Given the description of an element on the screen output the (x, y) to click on. 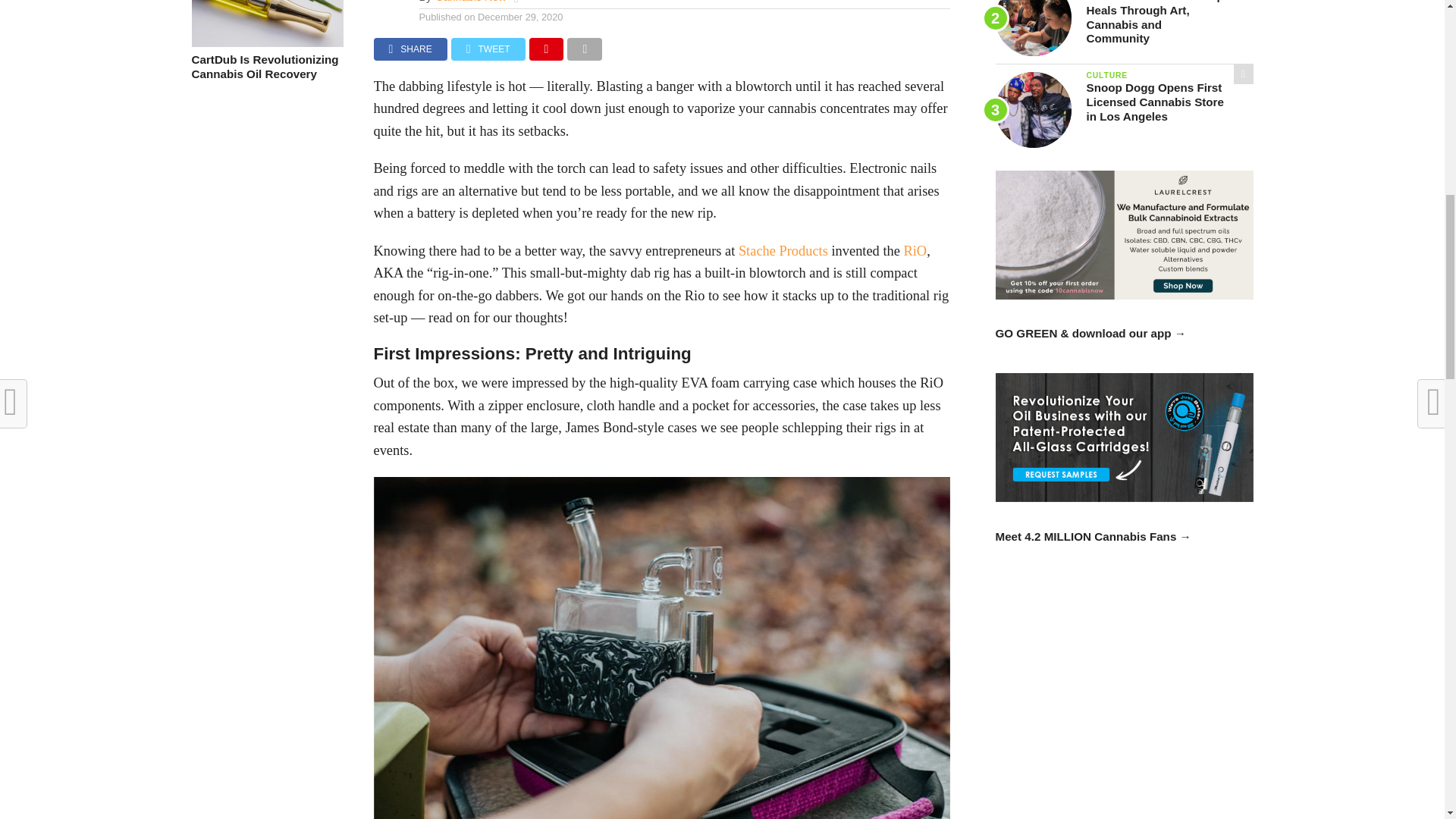
Posts by Cannabis Now (470, 1)
CartDub Is Revolutionizing Cannabis Oil Recovery (266, 42)
